Given the description of an element on the screen output the (x, y) to click on. 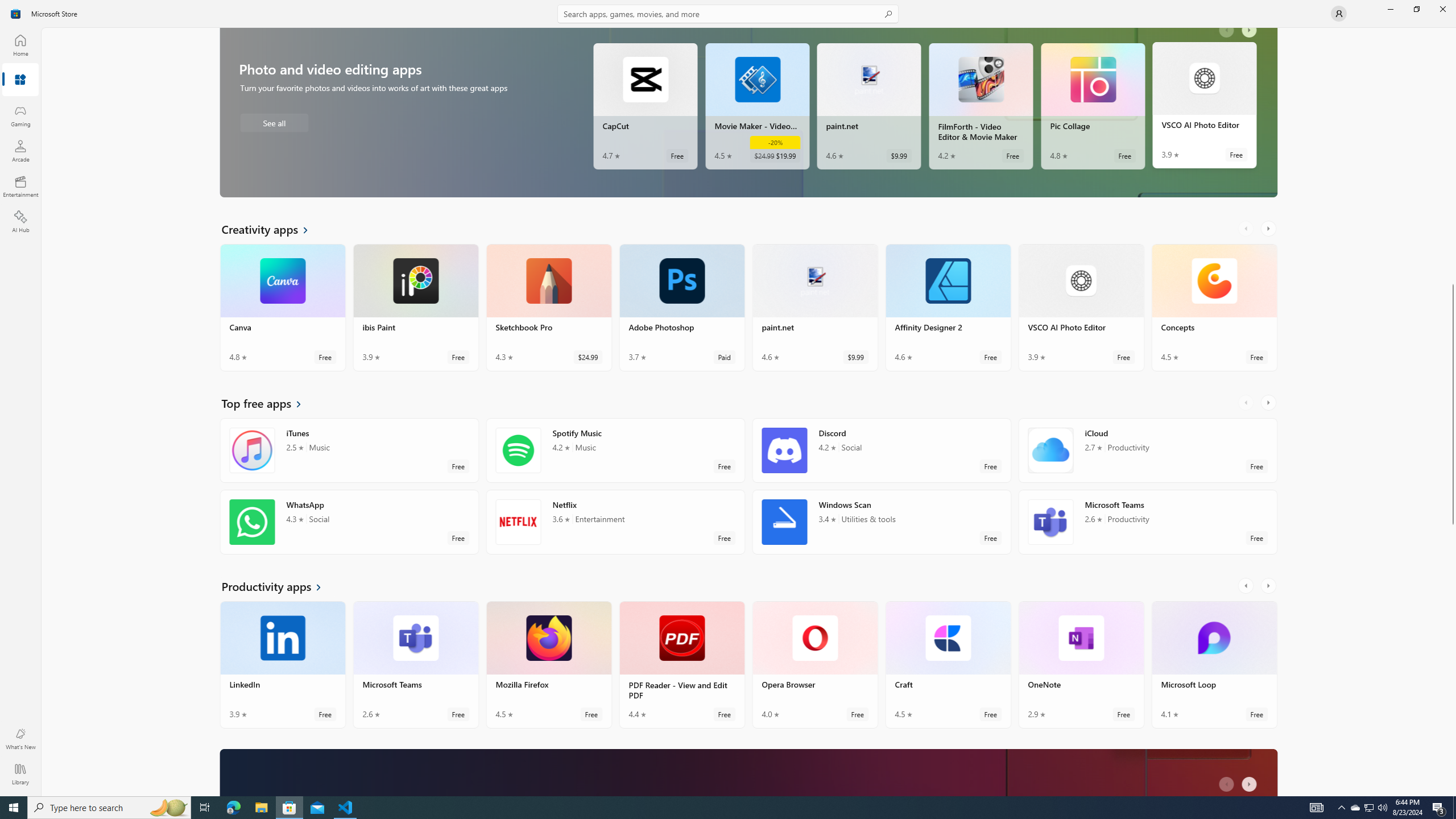
Netflix. Average rating of 3.6 out of five stars. Free   (615, 526)
iCloud. Average rating of 2.7 out of five stars. Free   (1146, 454)
See all  Creativity apps (271, 118)
AutomationID: NavigationControl (728, 398)
See all  Productivity apps (277, 590)
Vertical Small Decrease (1452, 31)
